Given the description of an element on the screen output the (x, y) to click on. 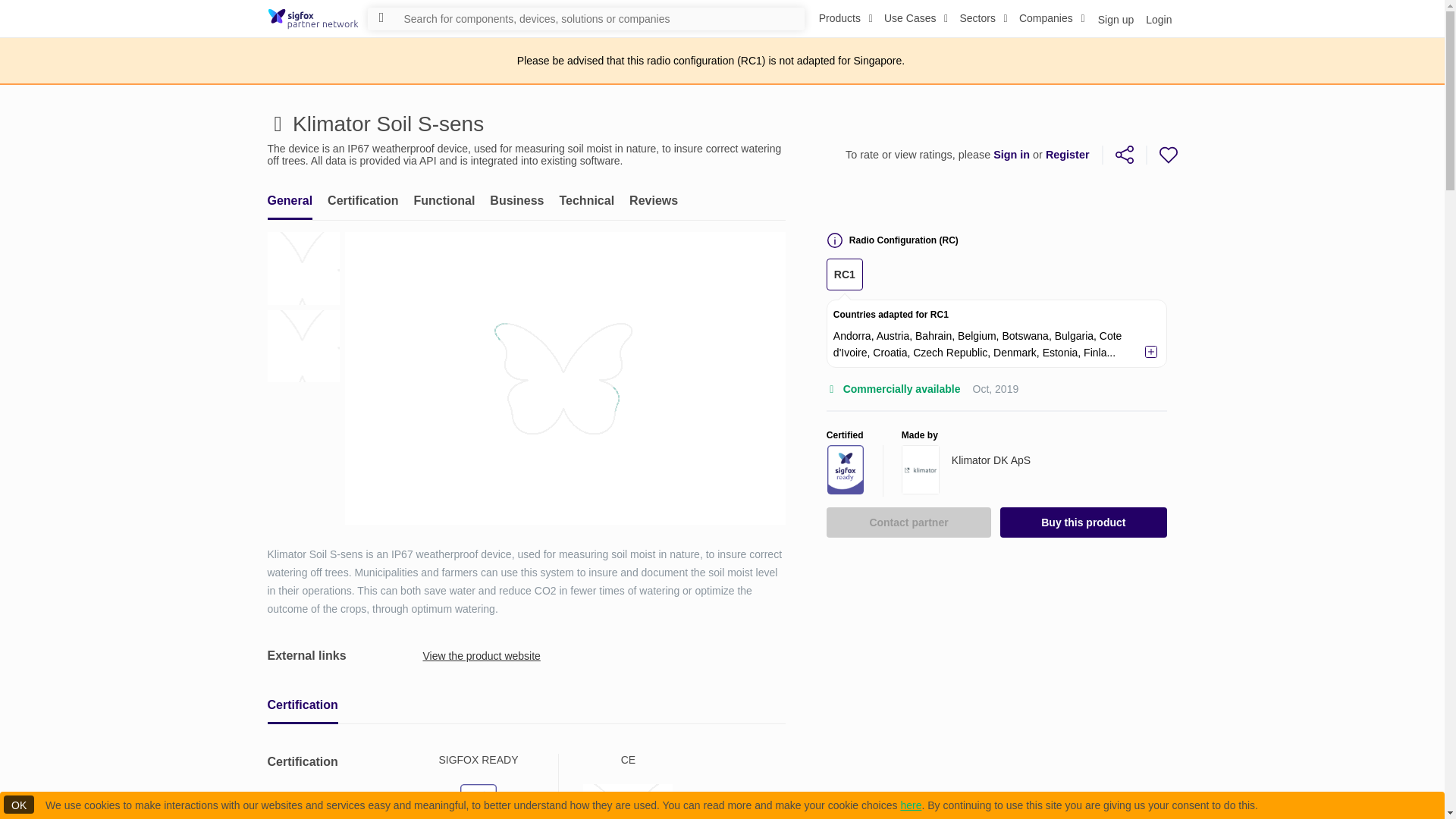
Sectors (525, 200)
Companies (983, 18)
Use Cases (1051, 18)
Products (916, 18)
Sign up (846, 18)
Login (525, 200)
